Given the description of an element on the screen output the (x, y) to click on. 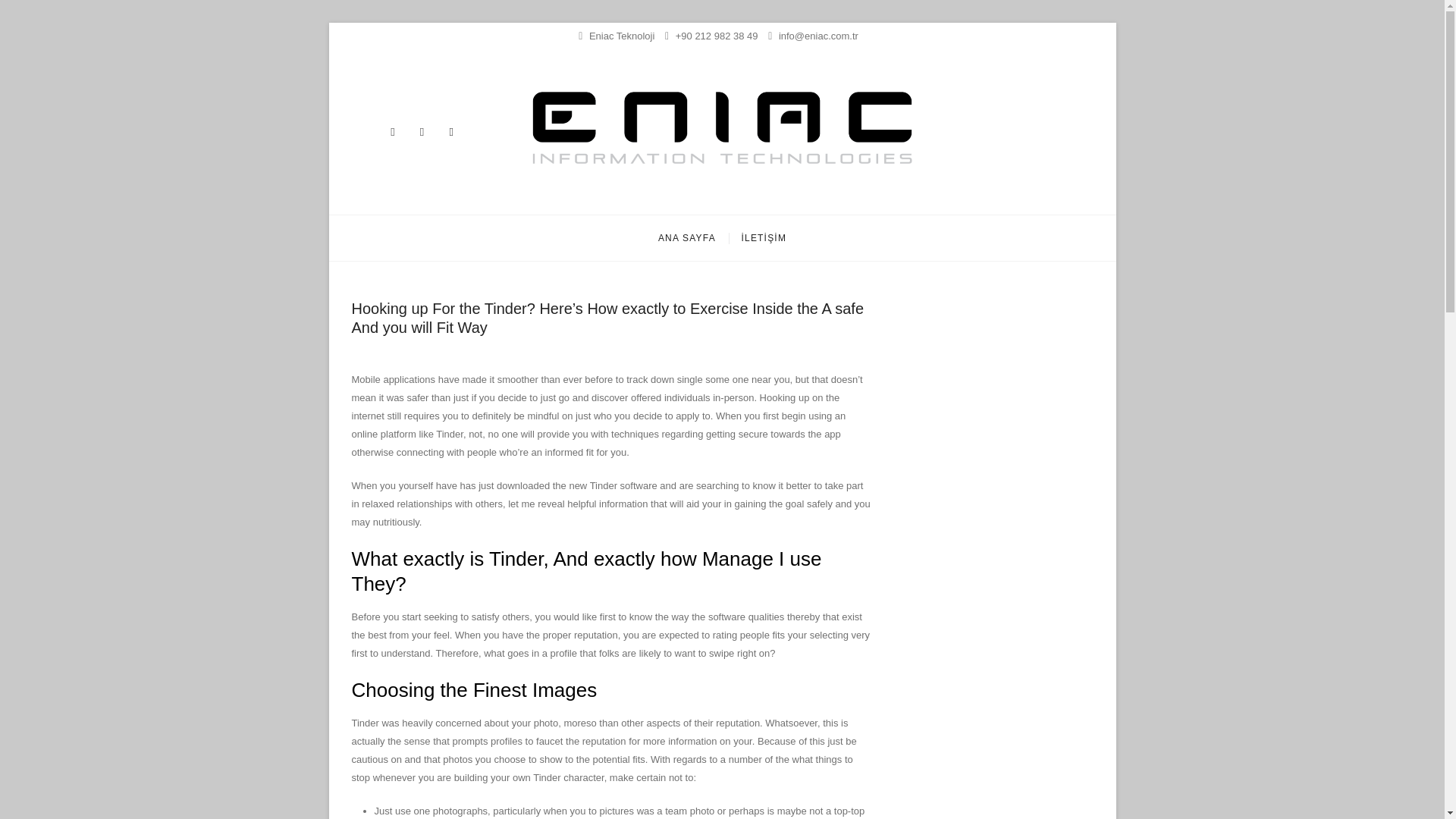
facebook (451, 130)
Eniac Teknoloji (589, 194)
linkedin (392, 130)
ANA SAYFA (686, 238)
Eniac Teknoloji (615, 35)
Adresimiz (615, 35)
Eniac Teknoloji (589, 194)
instagram (422, 130)
